Given the description of an element on the screen output the (x, y) to click on. 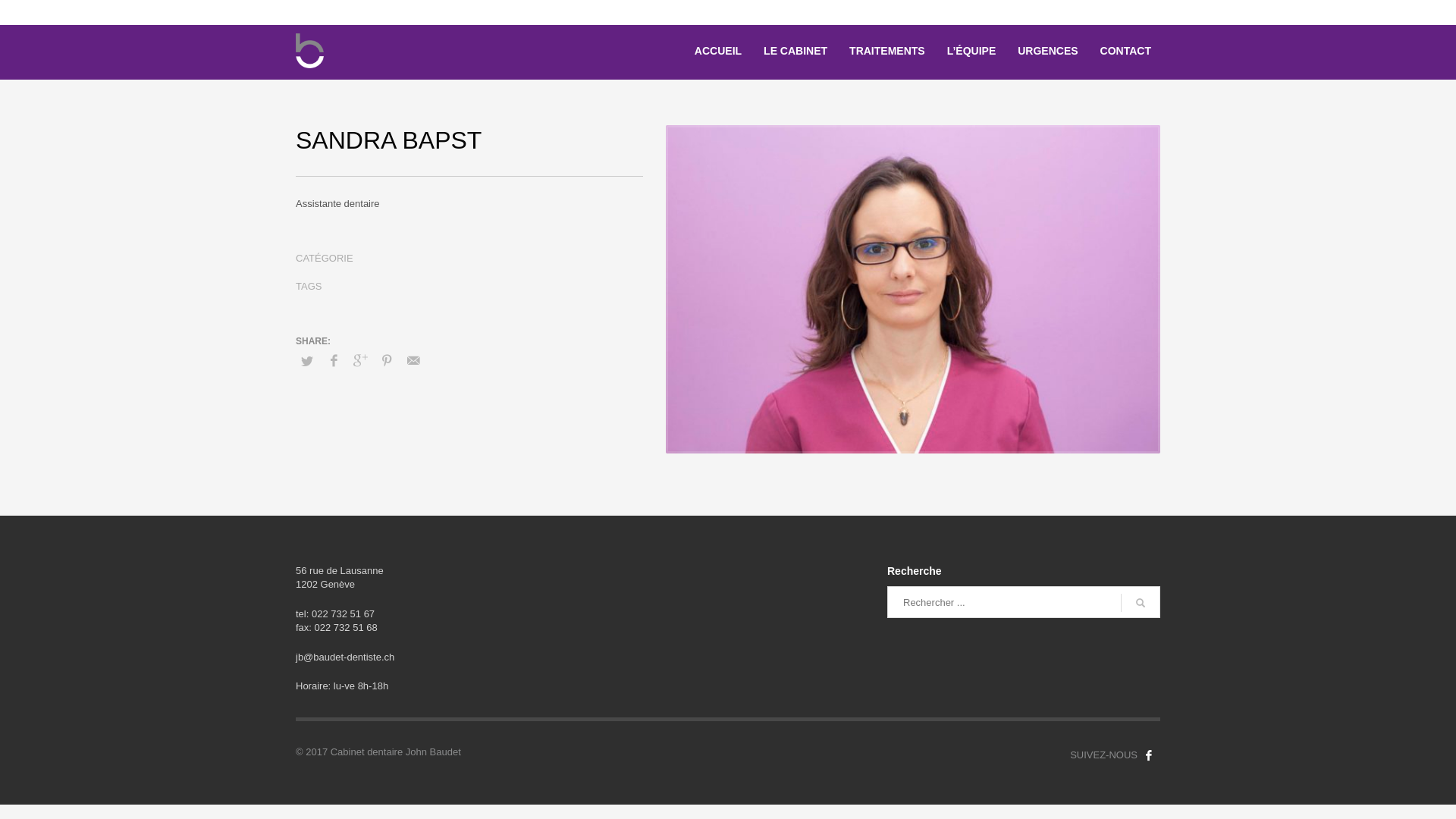
SHARE ON TWITTER Element type: hover (306, 361)
URGENCES Element type: text (1047, 50)
SHARE ON GPLUS Element type: hover (359, 360)
SHARE ON PINTEREST Element type: hover (386, 360)
CONNEXION Element type: text (1134, 12)
ACCUEIL Element type: text (717, 50)
LE CABINET Element type: text (795, 50)
SHARE ON MAIL Element type: hover (412, 360)
SHARE ON FACEBOOK Element type: hover (333, 360)
CONTACT Element type: text (1125, 50)
go Element type: text (1140, 602)
TRAITEMENTS Element type: text (887, 50)
